Given the description of an element on the screen output the (x, y) to click on. 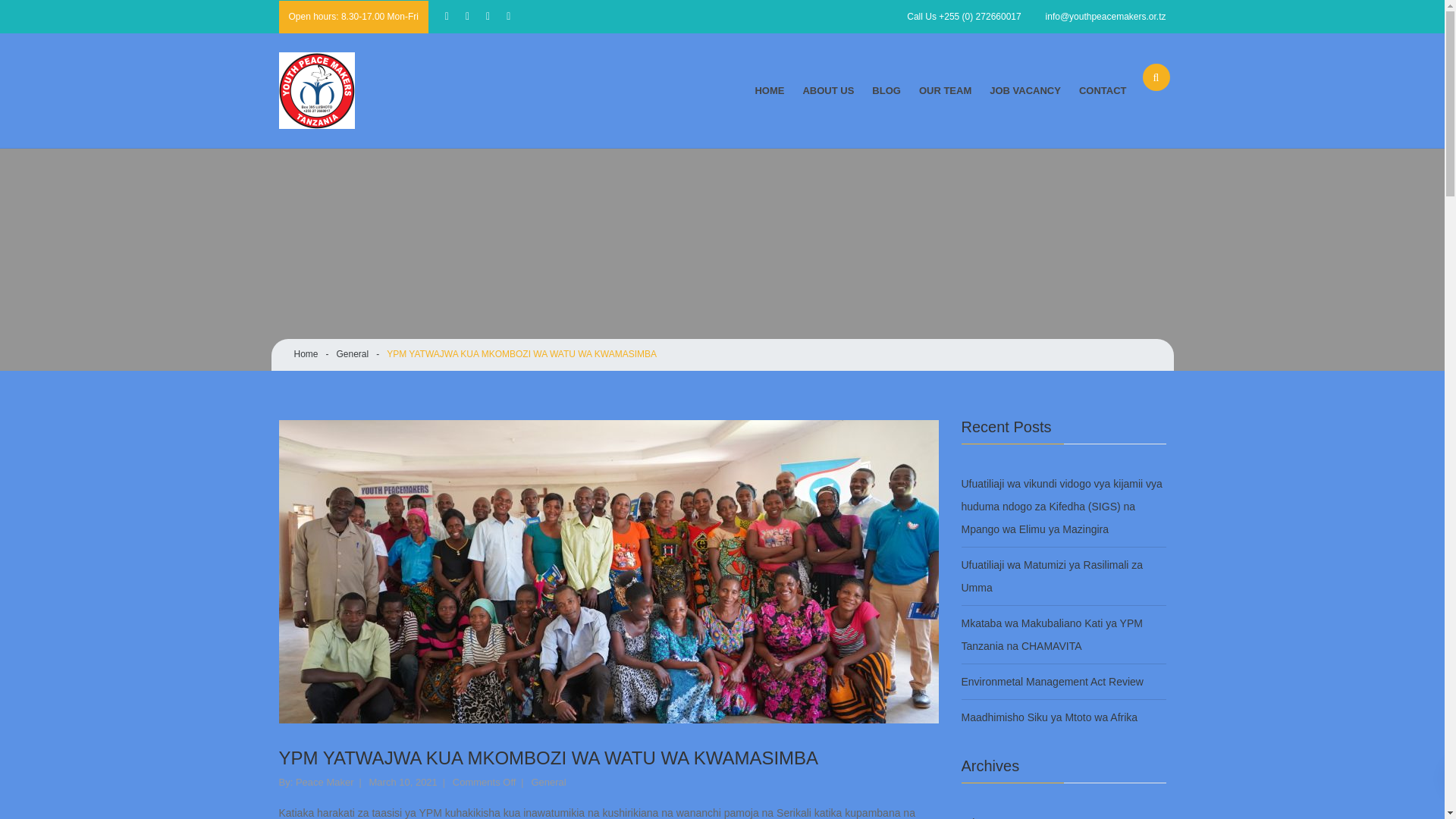
Home (306, 354)
July 2024 (983, 815)
Environmetal Management Act Review (1051, 681)
YPM YATWAJWA KUA MKOMBOZI WA WATU WA KWAMASIMBA (521, 353)
Posts by Peace Maker (324, 782)
Mkataba wa Makubaliano Kati ya YPM Tanzania na CHAMAVITA (1063, 634)
General (352, 354)
Youth Peace Makers (336, 90)
JOB VACANCY (1024, 90)
Home (306, 354)
General (548, 782)
Maadhimisho Siku ya Mtoto wa Afrika (1049, 716)
Peace Maker (324, 782)
Ufuatiliaji wa Matumizi ya Rasilimali za Umma (1063, 575)
